Given the description of an element on the screen output the (x, y) to click on. 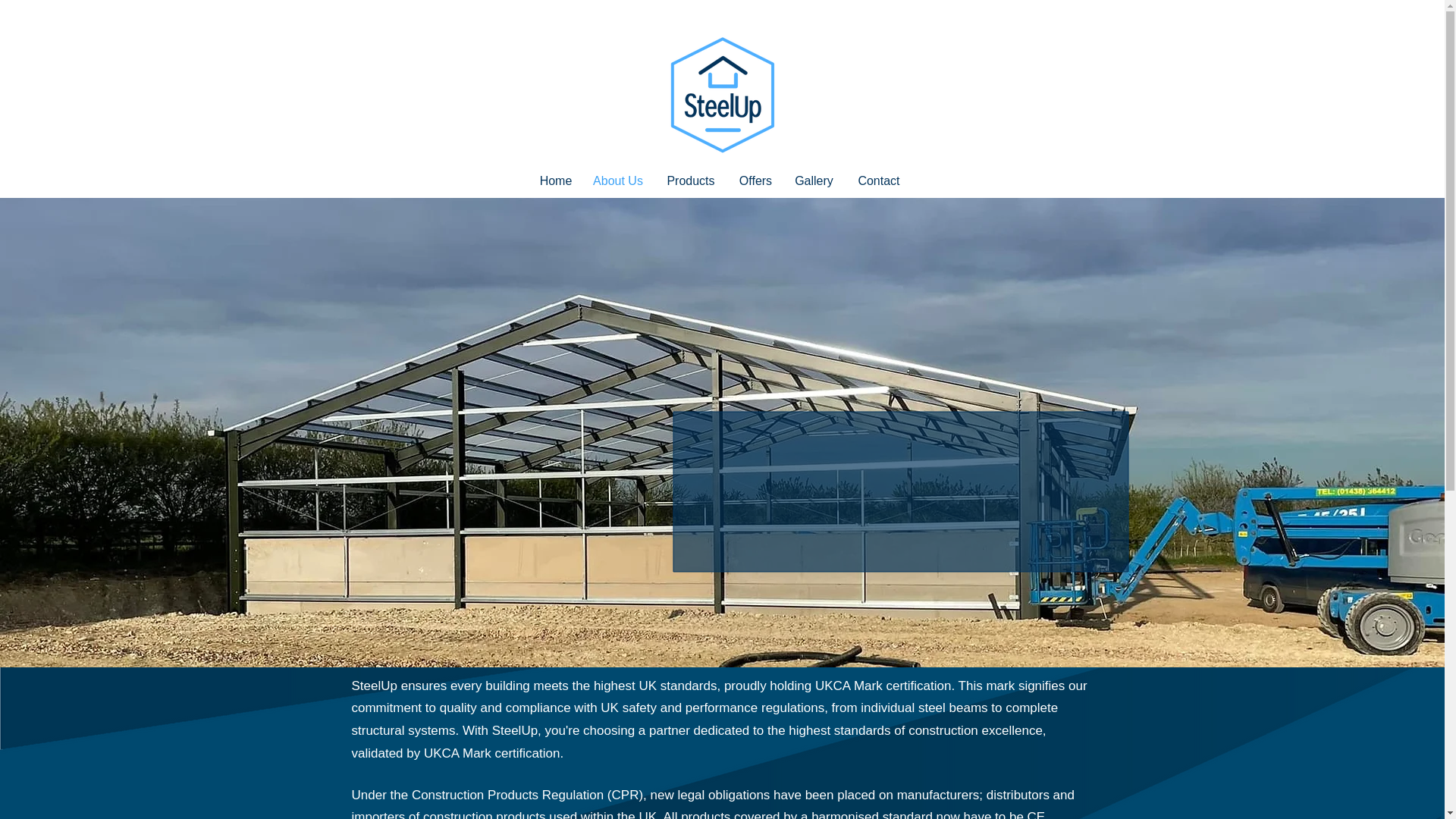
Home (554, 180)
Contact (878, 180)
Products (689, 180)
Offers (754, 180)
Gallery (813, 180)
About Us (616, 180)
